Given the description of an element on the screen output the (x, y) to click on. 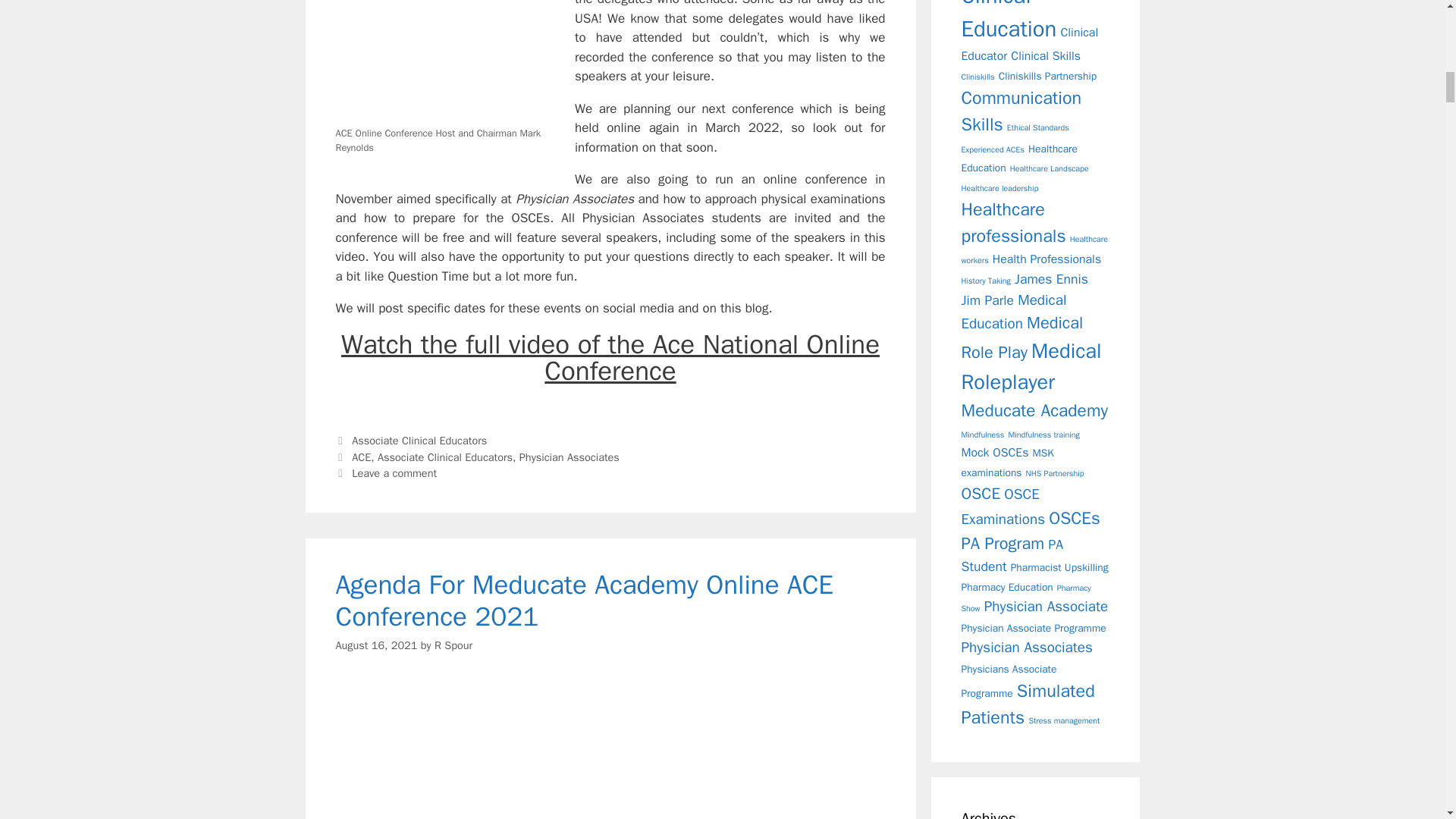
View all posts by R Spour (452, 644)
Agenda For Meducate Academy Online ACE Conference 2021 (583, 600)
Leave a comment (394, 472)
Physician Associates (569, 457)
Watch the full video of the Ace National Online Conference (609, 357)
Associate Clinical Educators (444, 457)
ACE (361, 457)
R Spour (452, 644)
Associate Clinical Educators (419, 440)
